Given the description of an element on the screen output the (x, y) to click on. 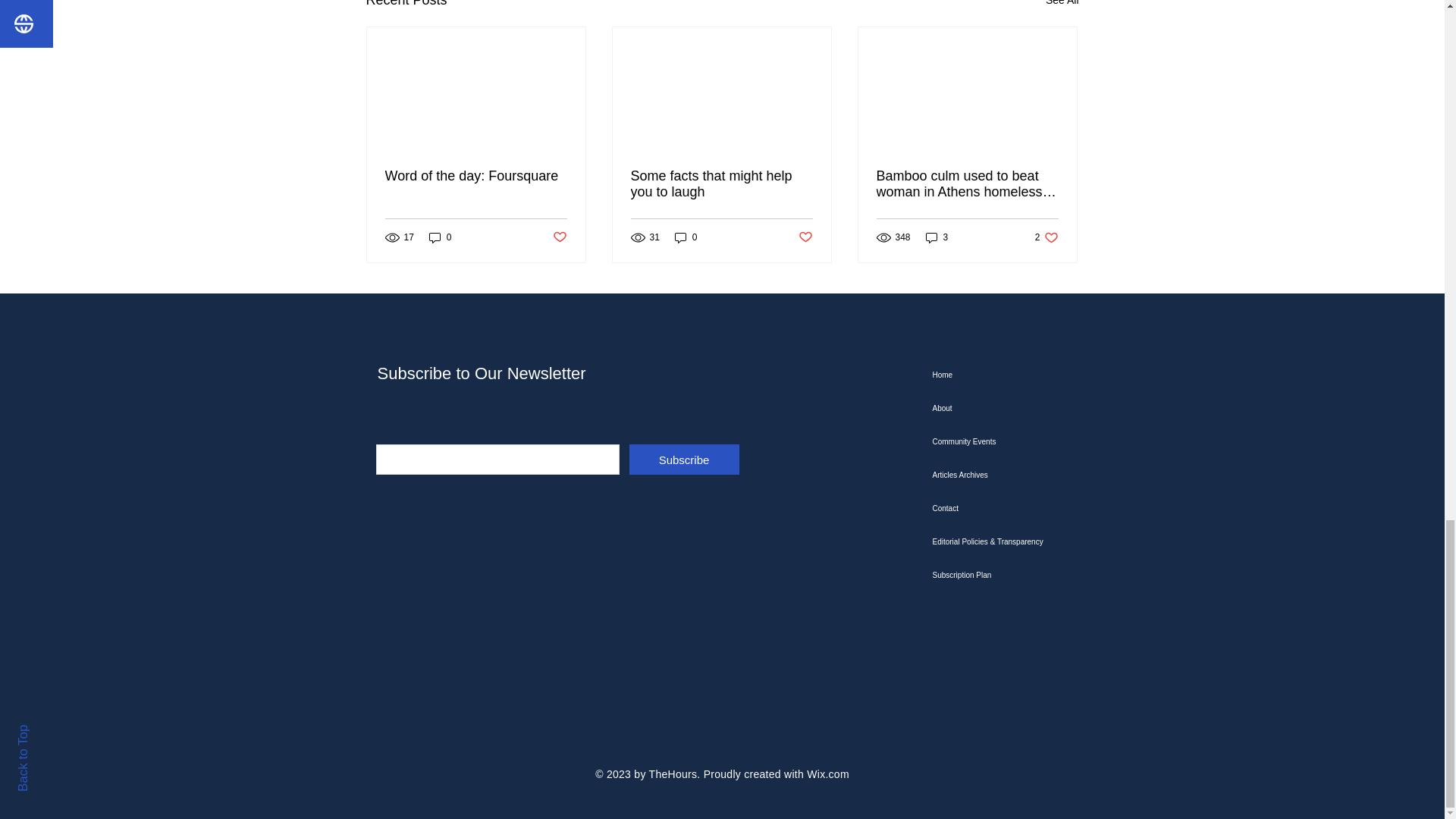
Word of the day: Foursquare (476, 176)
See All (1061, 5)
